Given the description of an element on the screen output the (x, y) to click on. 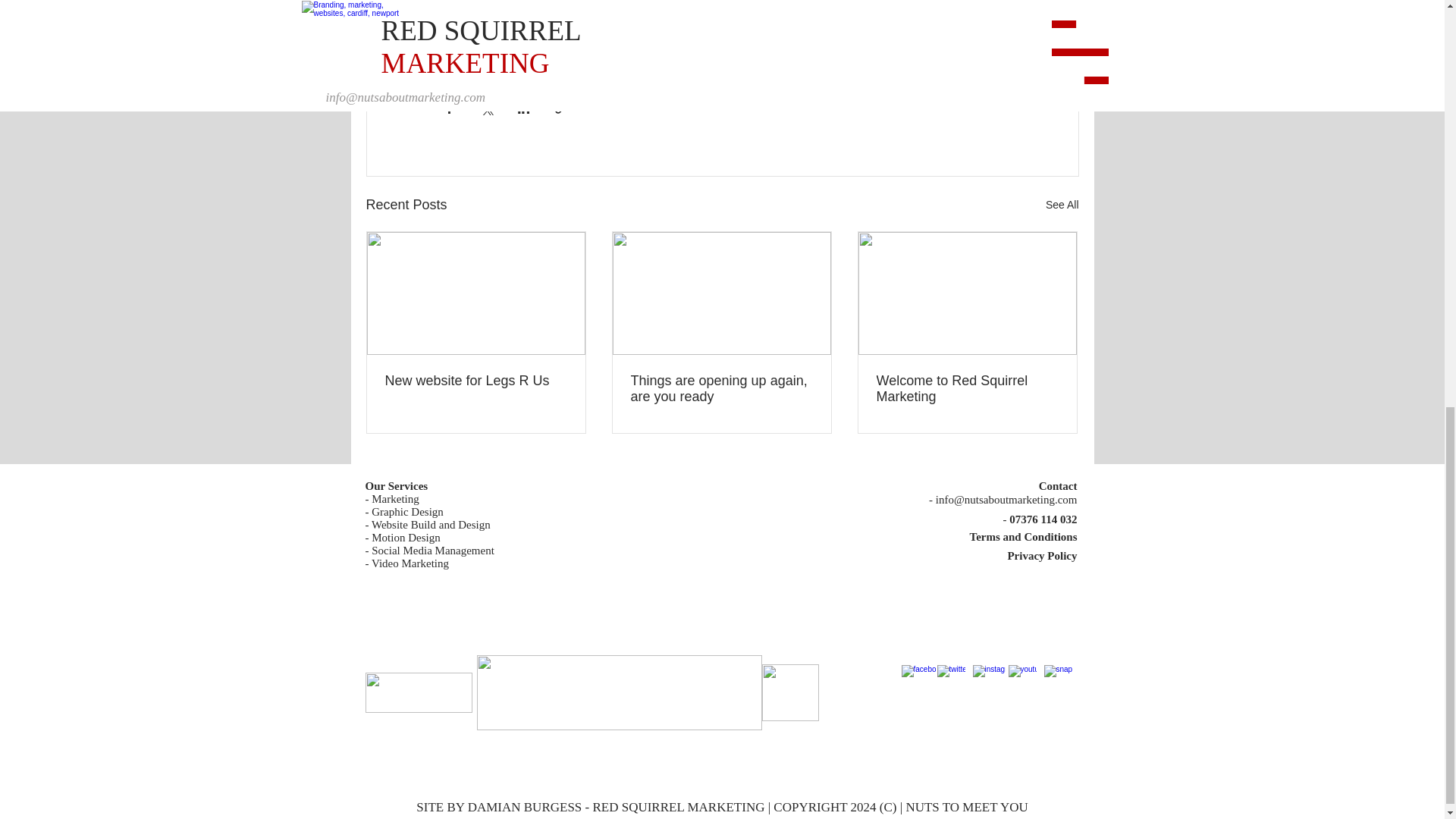
Motion Design (405, 537)
Marketing (395, 499)
New website for Legs R Us (476, 381)
Welcome to Red Squirrel Marketing (967, 388)
Privacy Policy (1042, 555)
Terms and Conditions (1023, 536)
07376 114 032 (1043, 519)
Graphic Design (407, 511)
Website Build and Design (430, 524)
See All (1061, 205)
